Given the description of an element on the screen output the (x, y) to click on. 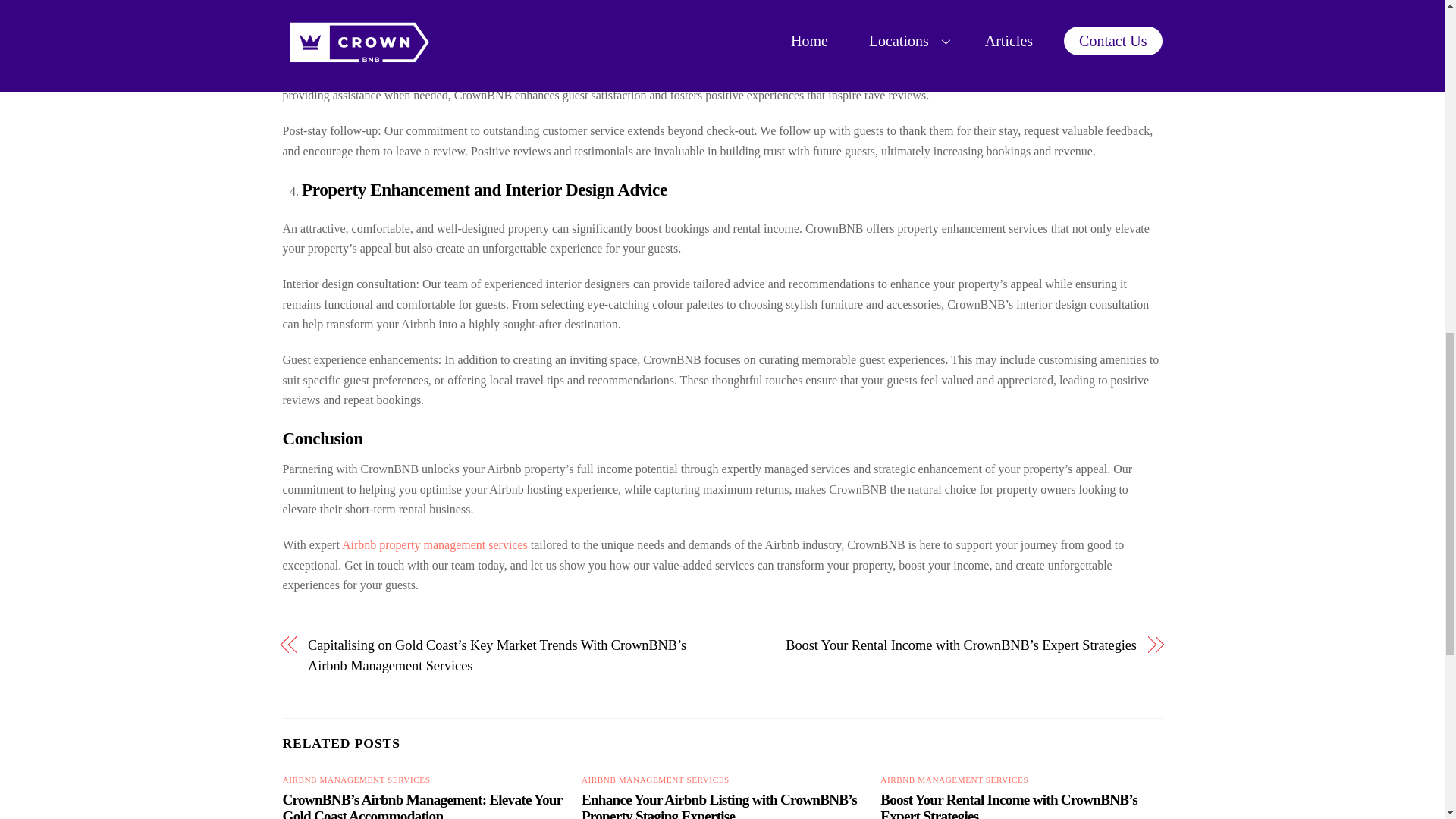
Airbnb property management services (434, 544)
AIRBNB MANAGEMENT SERVICES (654, 778)
AIRBNB MANAGEMENT SERVICES (355, 778)
AIRBNB MANAGEMENT SERVICES (953, 778)
